Given the description of an element on the screen output the (x, y) to click on. 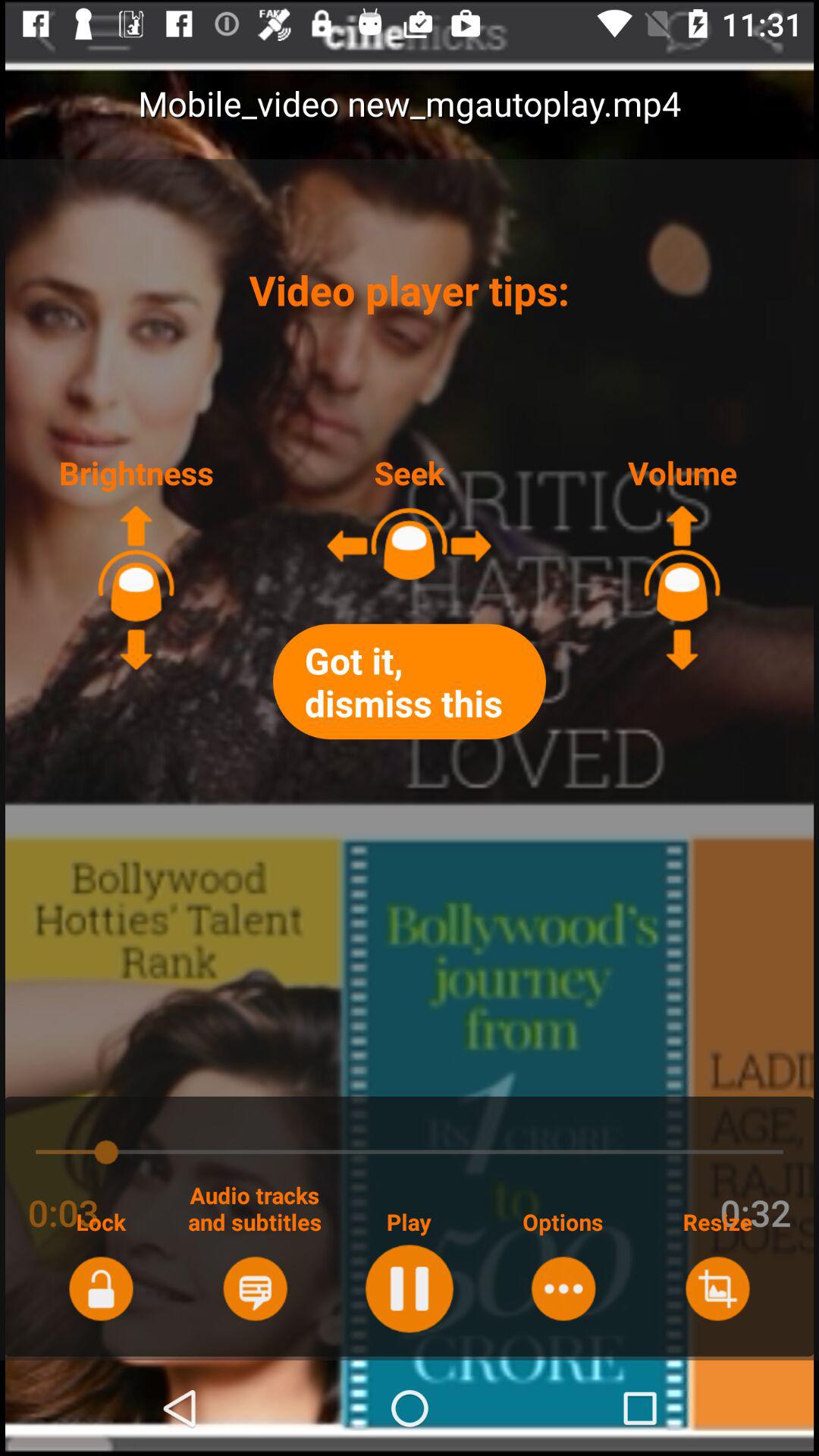
select the options button (563, 1288)
